Given the description of an element on the screen output the (x, y) to click on. 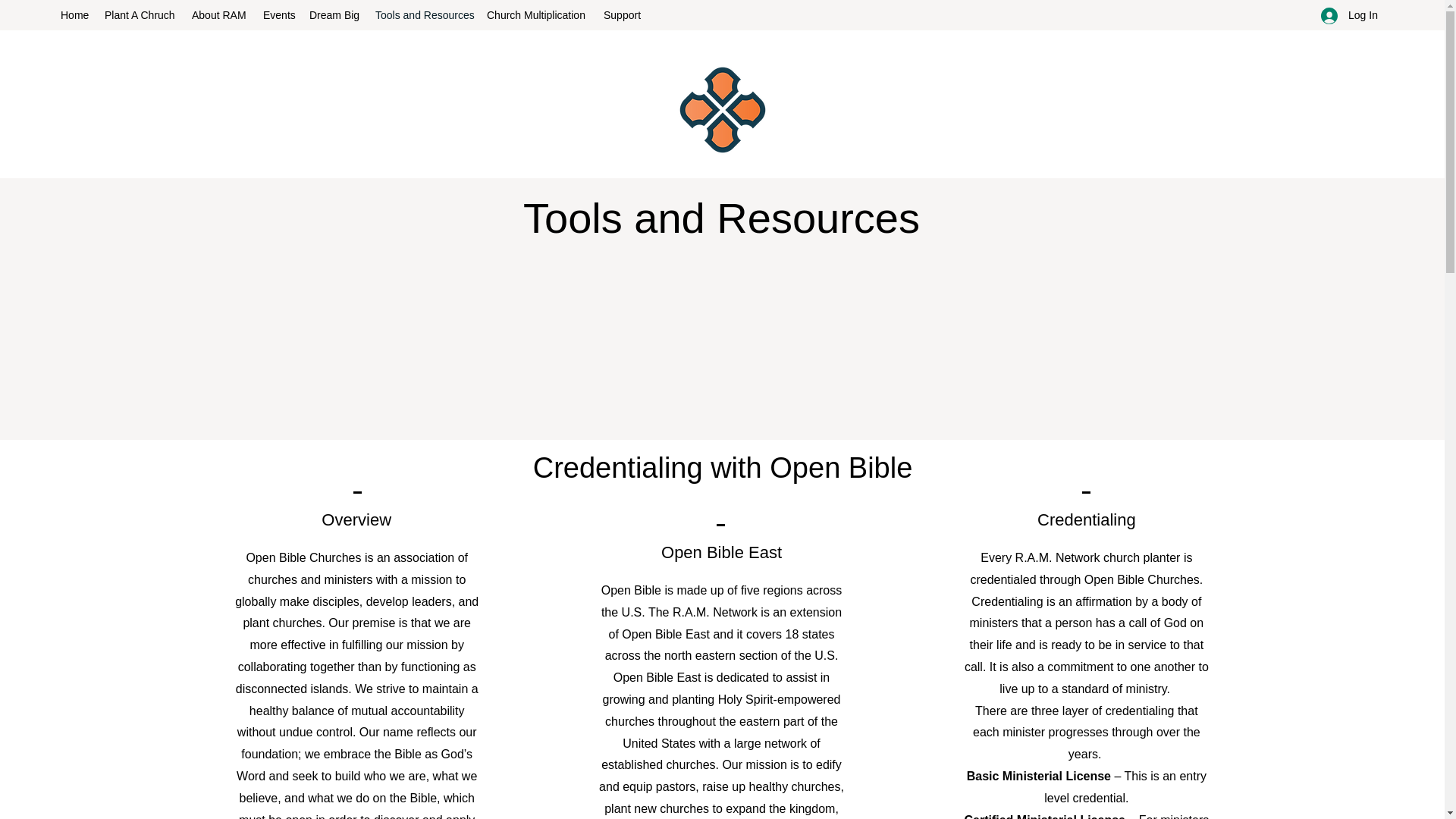
Home (74, 15)
Tools and Resources (423, 15)
Log In (1344, 15)
Support (622, 15)
Church Multiplication (537, 15)
About RAM (220, 15)
Plant A Chruch (140, 15)
Events (278, 15)
Dream Big (334, 15)
